Given the description of an element on the screen output the (x, y) to click on. 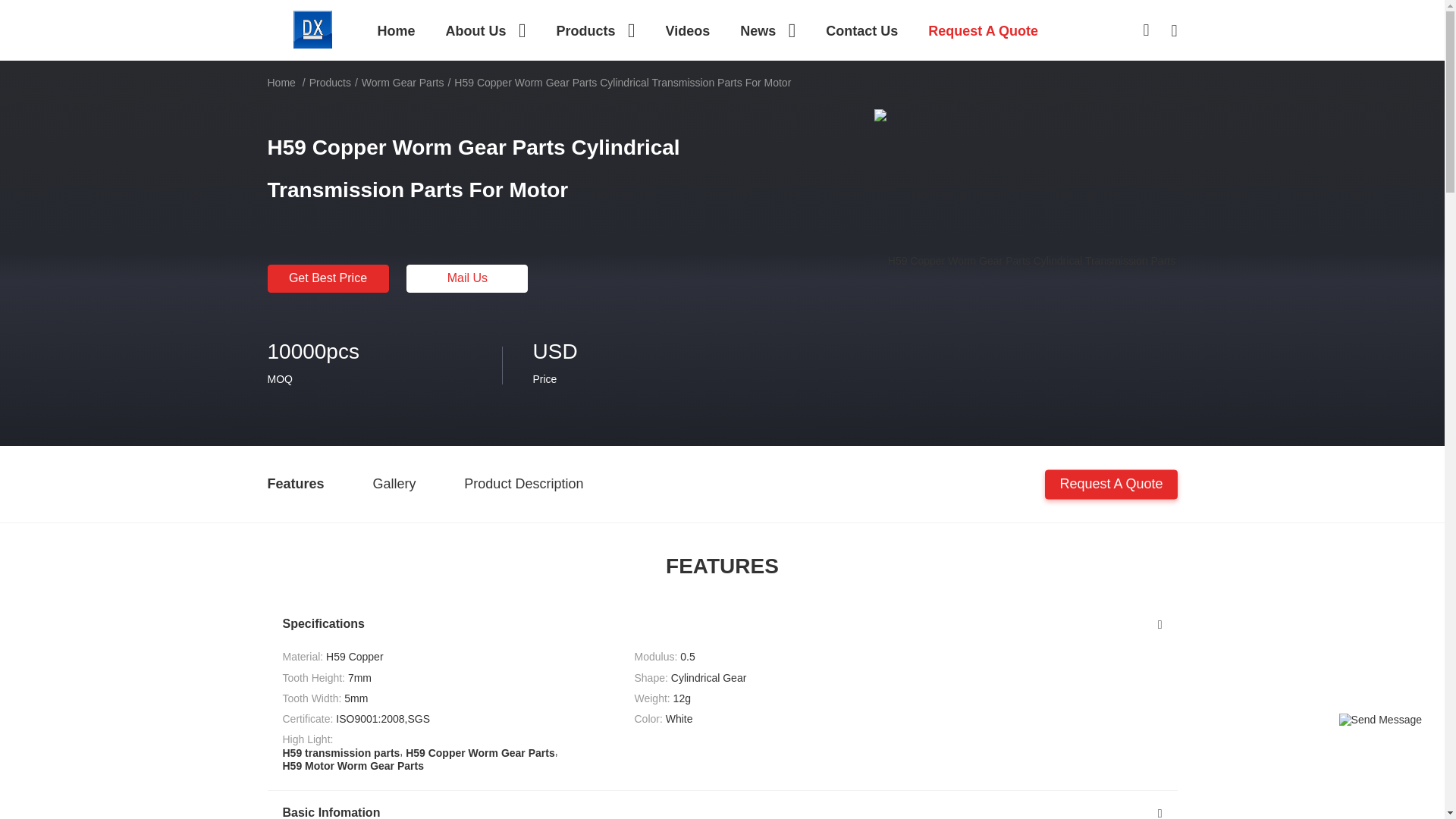
About Us (485, 30)
Jiaxing Dexun Co.,Ltd. (312, 28)
About Us (485, 30)
Products (595, 30)
Products (595, 30)
